Given the description of an element on the screen output the (x, y) to click on. 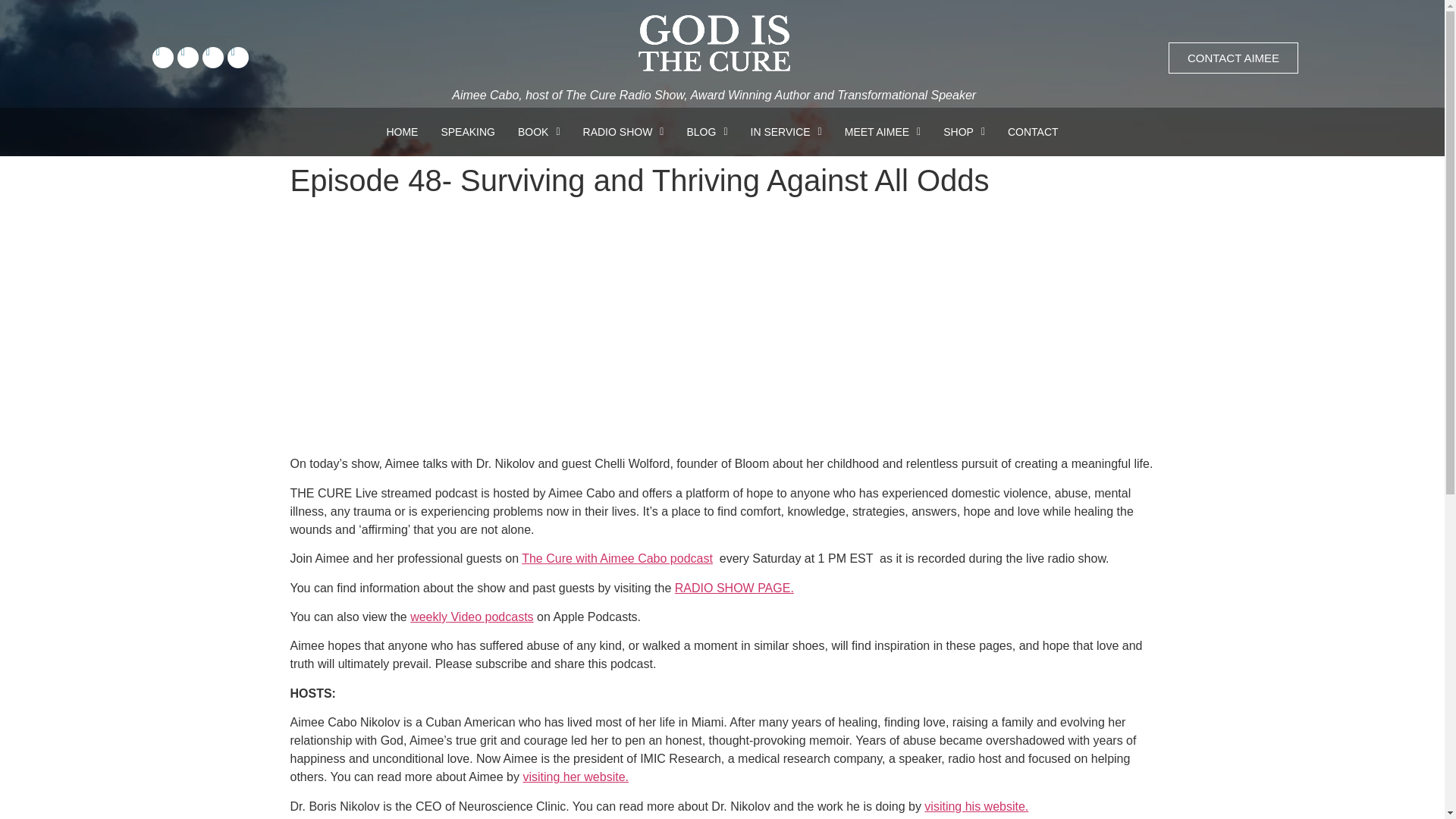
RADIO SHOW PAGE. (734, 587)
BOOK (539, 131)
visiting his website. (975, 806)
IN SERVICE (785, 131)
SPEAKING (467, 131)
CONTACT AIMEE (1233, 57)
visiting her website. (575, 776)
CONTACT (1032, 131)
The Cure with Aimee Cabo podcast (617, 558)
weekly Video podcasts (471, 616)
HOME (401, 131)
MEET AIMEE (881, 131)
BLOG (706, 131)
SHOP (963, 131)
RADIO SHOW (623, 131)
